Given the description of an element on the screen output the (x, y) to click on. 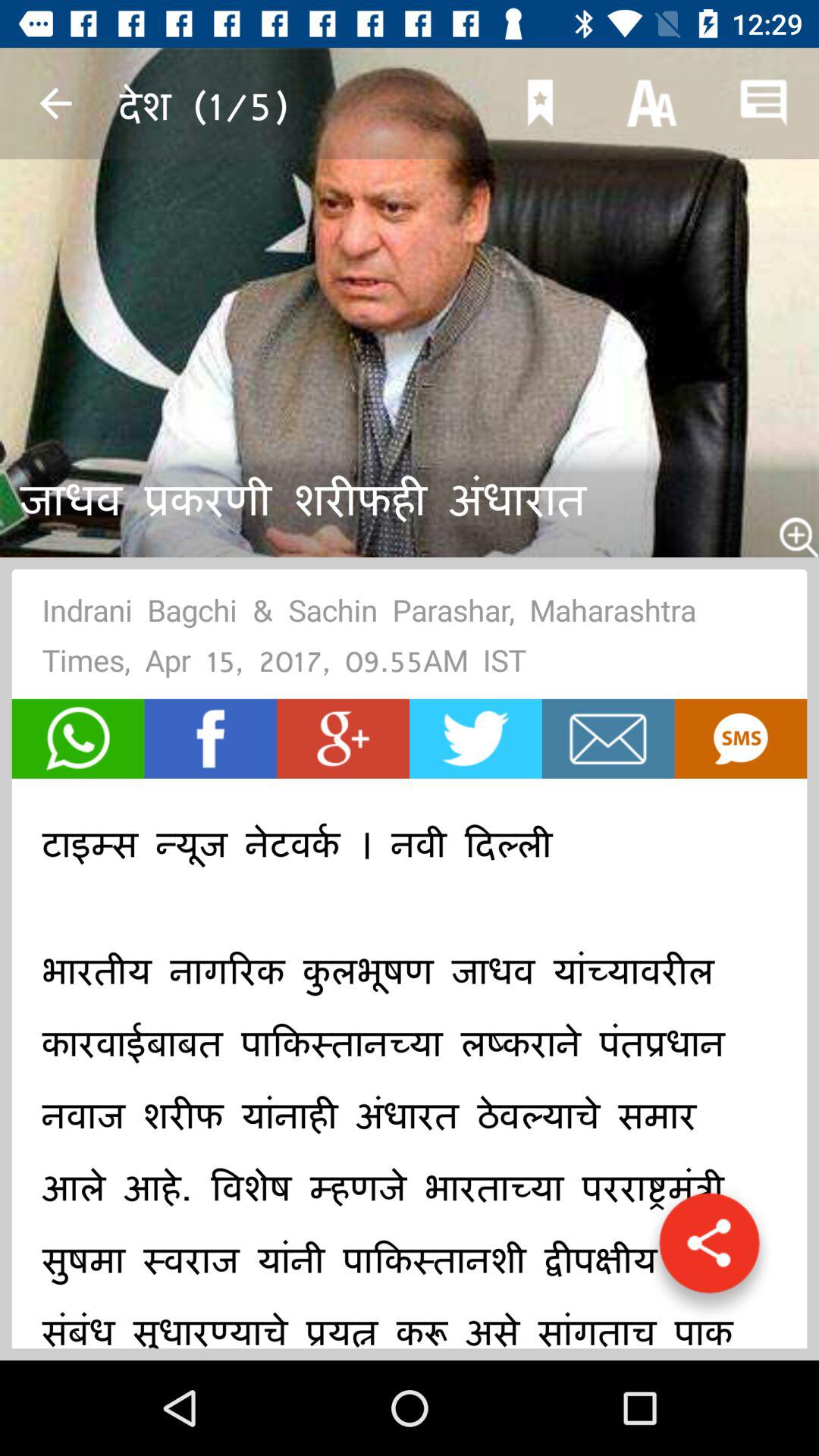
google link (342, 738)
